Given the description of an element on the screen output the (x, y) to click on. 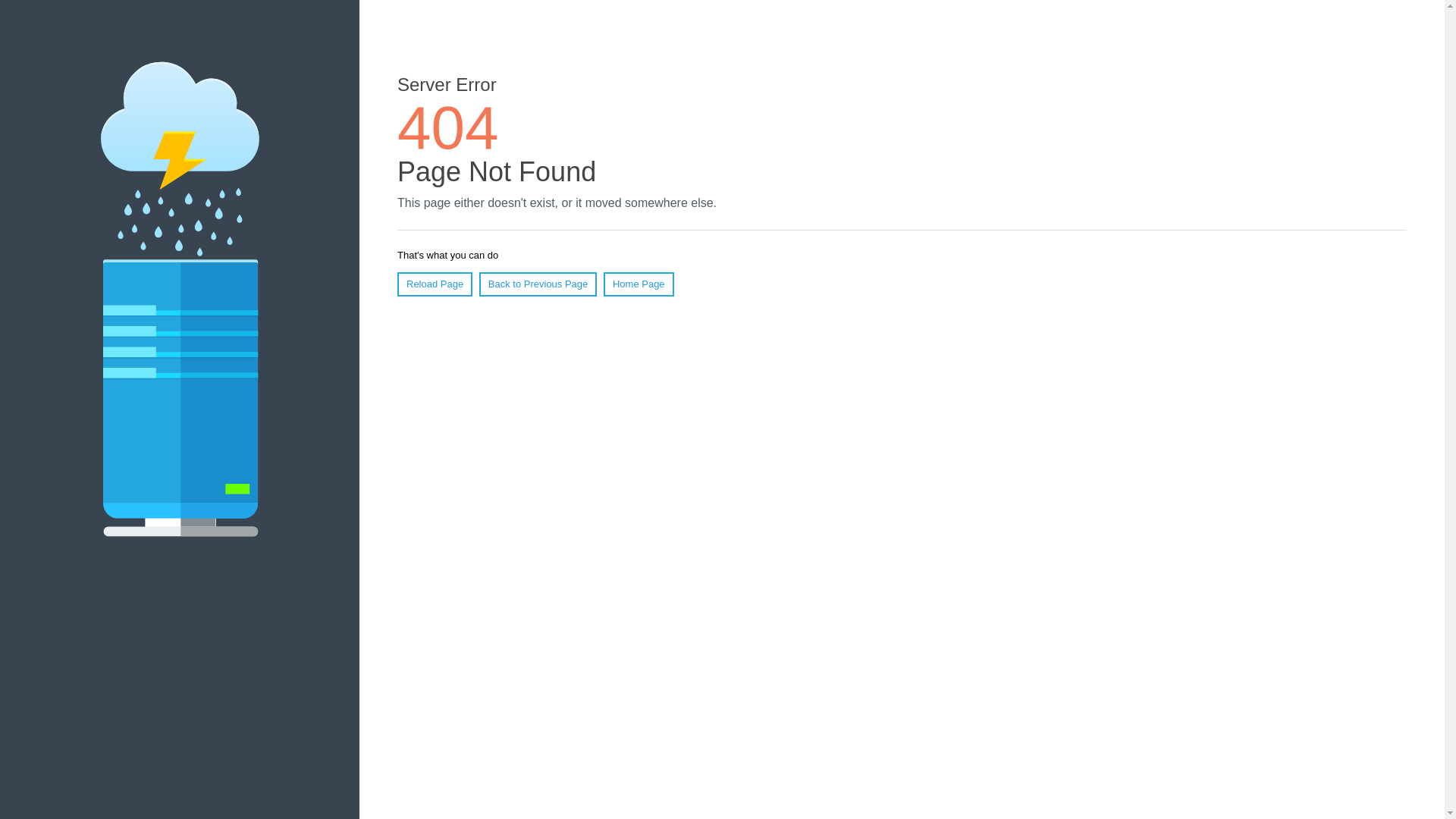
Back to Previous Page Element type: text (538, 284)
Home Page Element type: text (638, 284)
Reload Page Element type: text (434, 284)
